Given the description of an element on the screen output the (x, y) to click on. 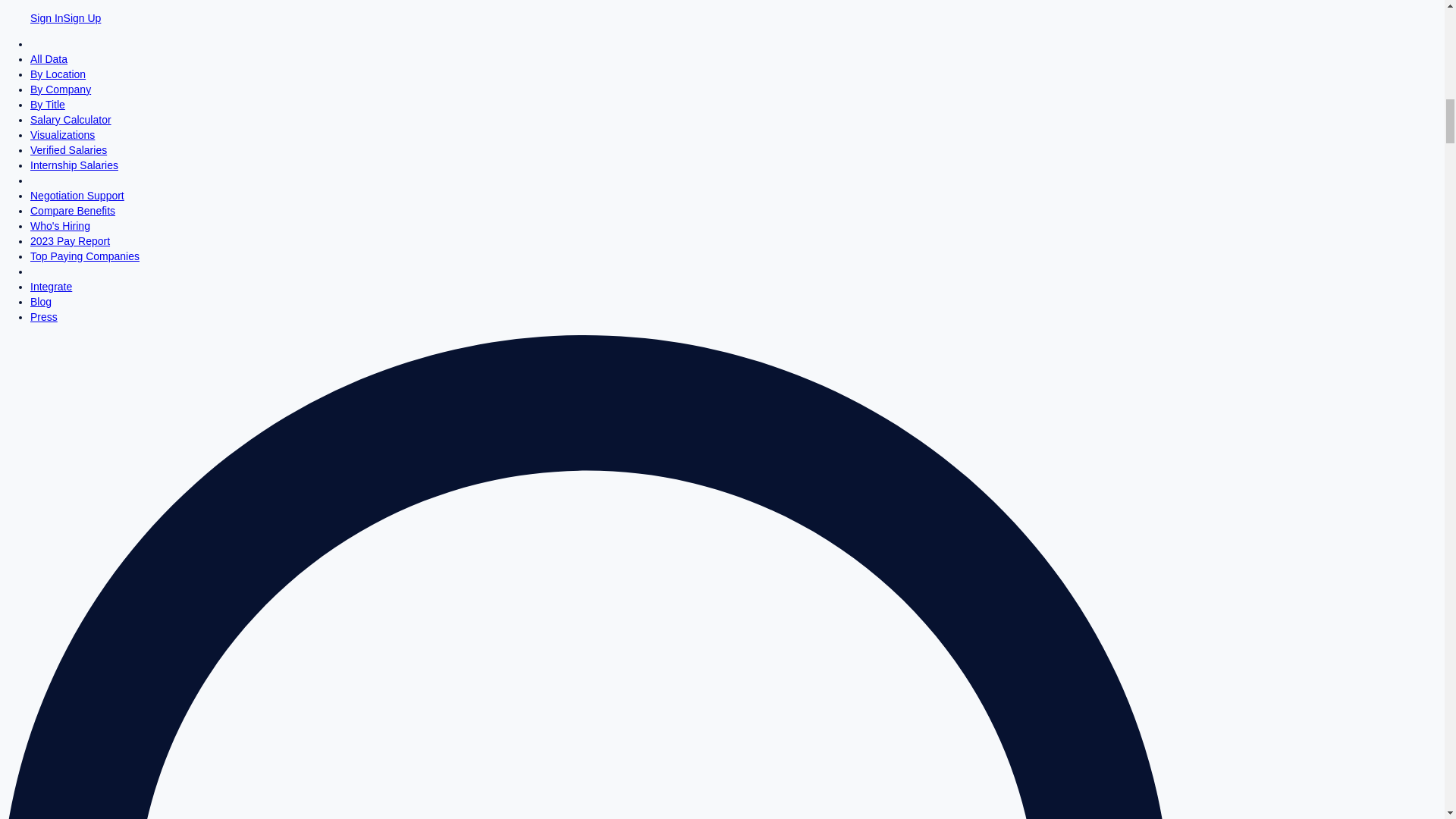
By Company (60, 89)
Press (44, 316)
Who's Hiring (60, 225)
Compare Benefits (72, 210)
By Location (57, 73)
Integrate (50, 286)
2023 Pay Report (70, 241)
Sign Up (82, 18)
Salary Calculator (71, 119)
Top Paying Companies (84, 256)
Verified Salaries (68, 150)
Sign In (47, 18)
All Data (48, 59)
Blog (40, 301)
Internship Salaries (73, 164)
